Given the description of an element on the screen output the (x, y) to click on. 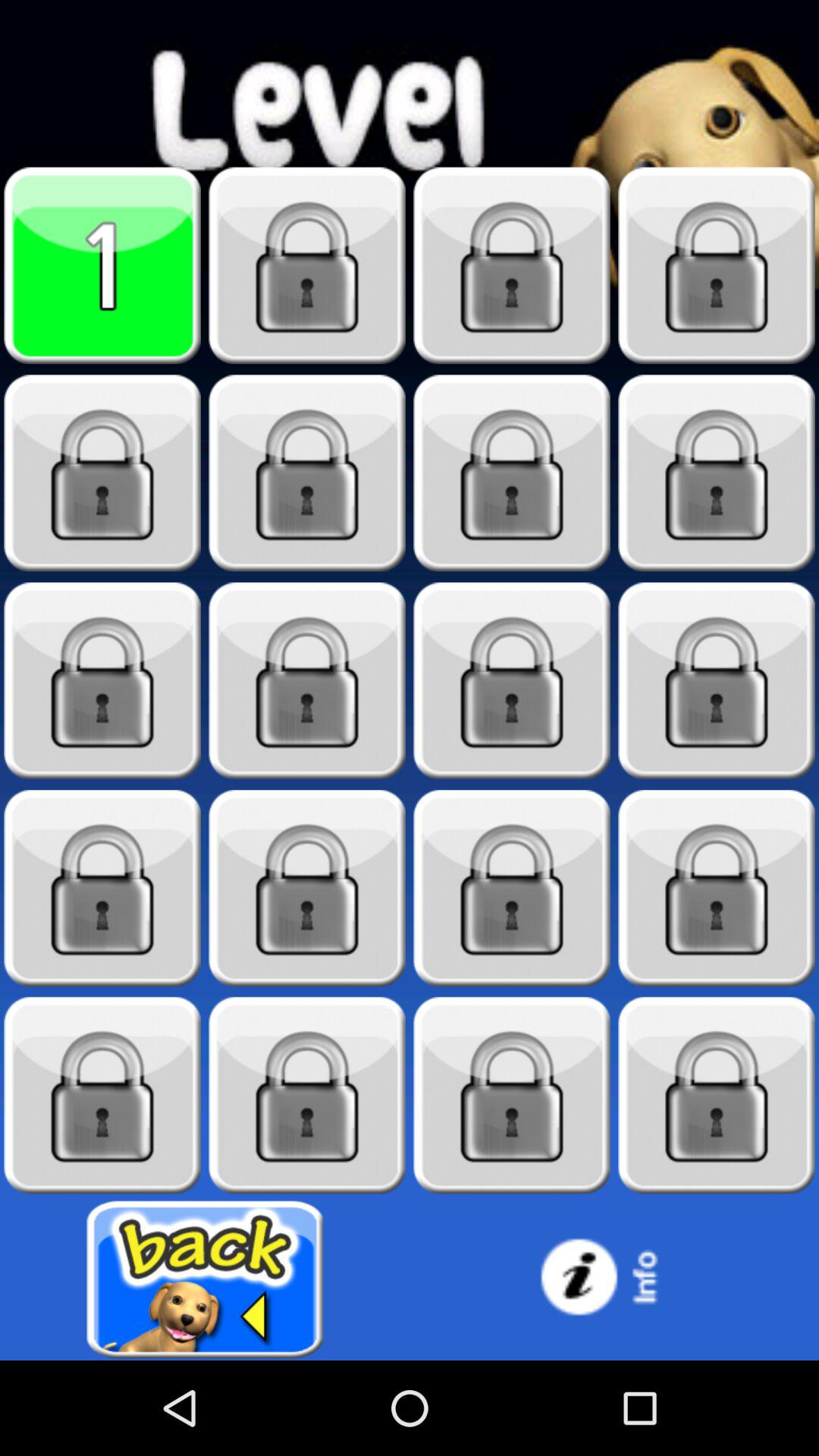
unlock level13 (102, 887)
